Given the description of an element on the screen output the (x, y) to click on. 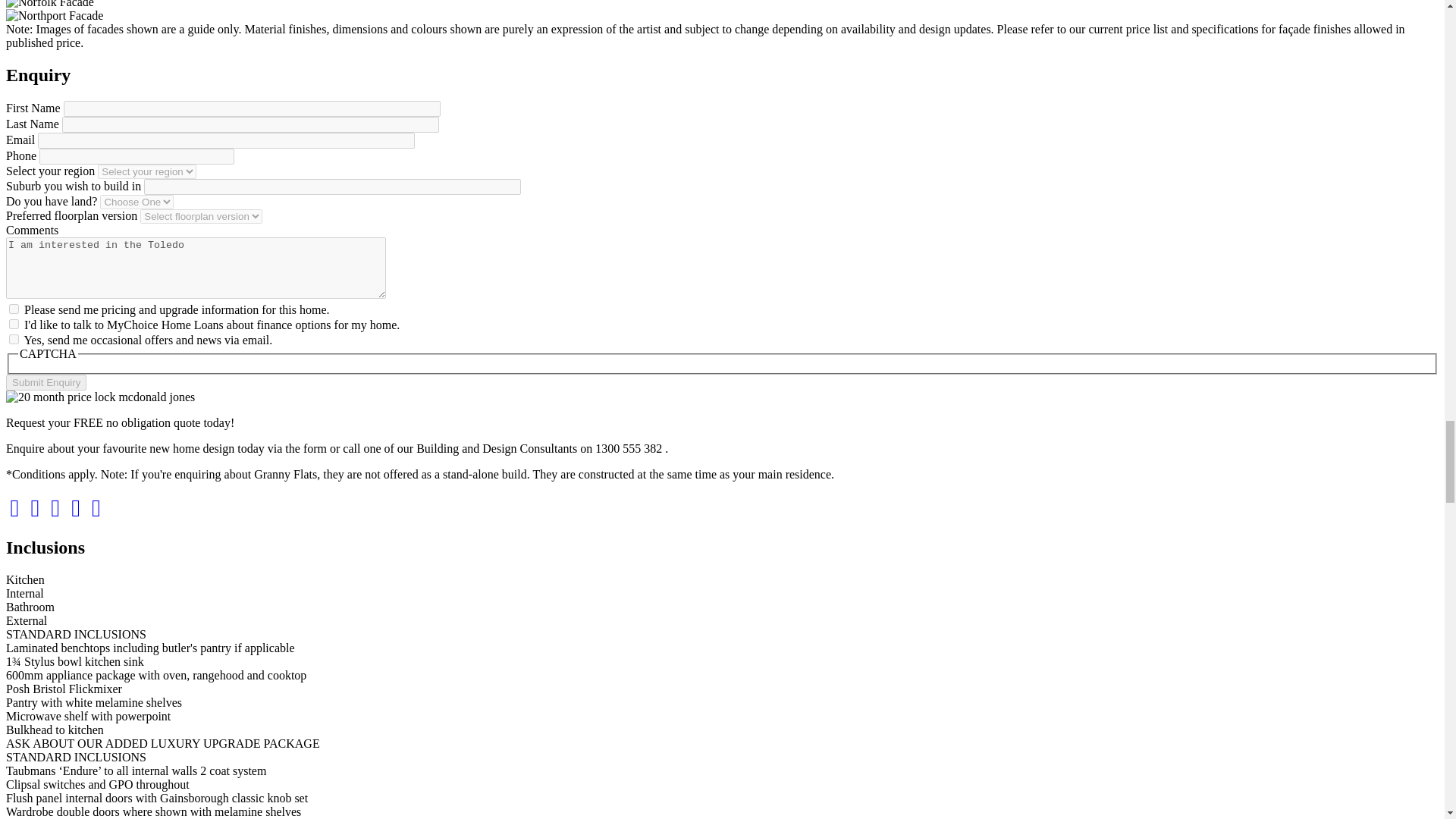
Submit Enquiry (45, 382)
1 (13, 324)
1 (13, 308)
1 (13, 338)
